Given the description of an element on the screen output the (x, y) to click on. 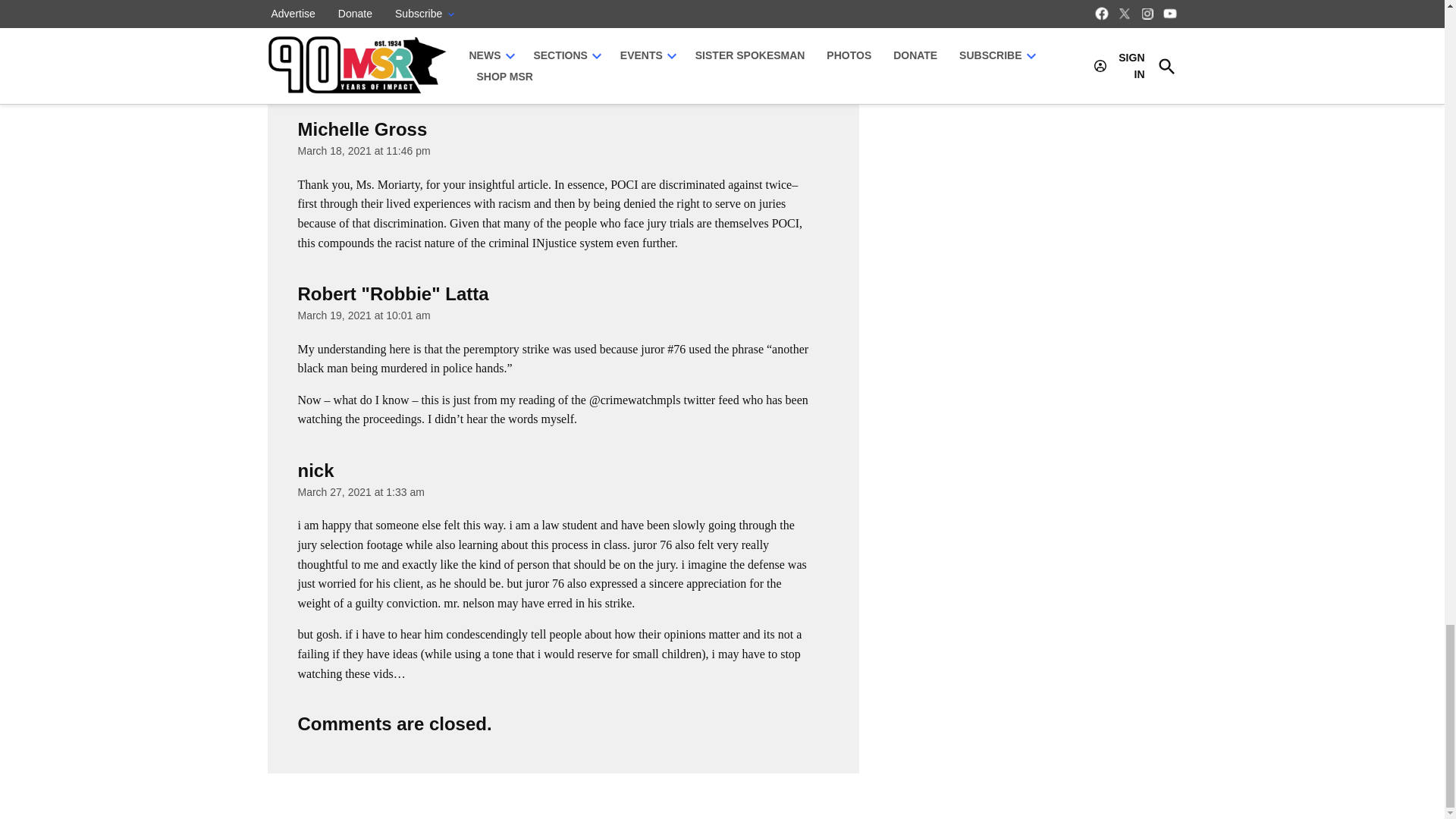
March 18, 2021 at 11:46 pm (363, 150)
March 27, 2021 at 1:33 am (360, 491)
March 19, 2021 at 10:01 am (363, 315)
